Given the description of an element on the screen output the (x, y) to click on. 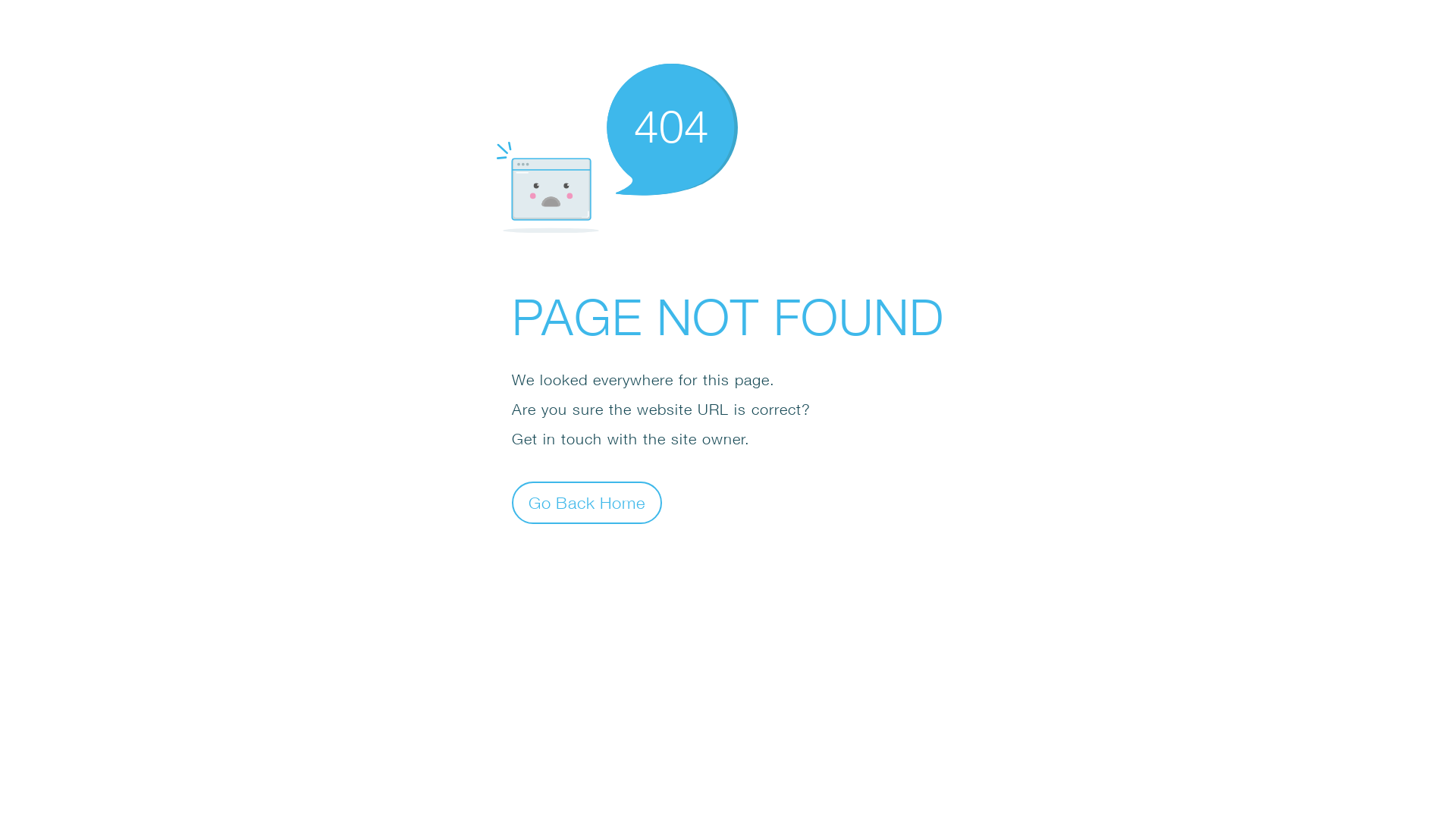
Go Back Home Element type: text (586, 502)
